Given the description of an element on the screen output the (x, y) to click on. 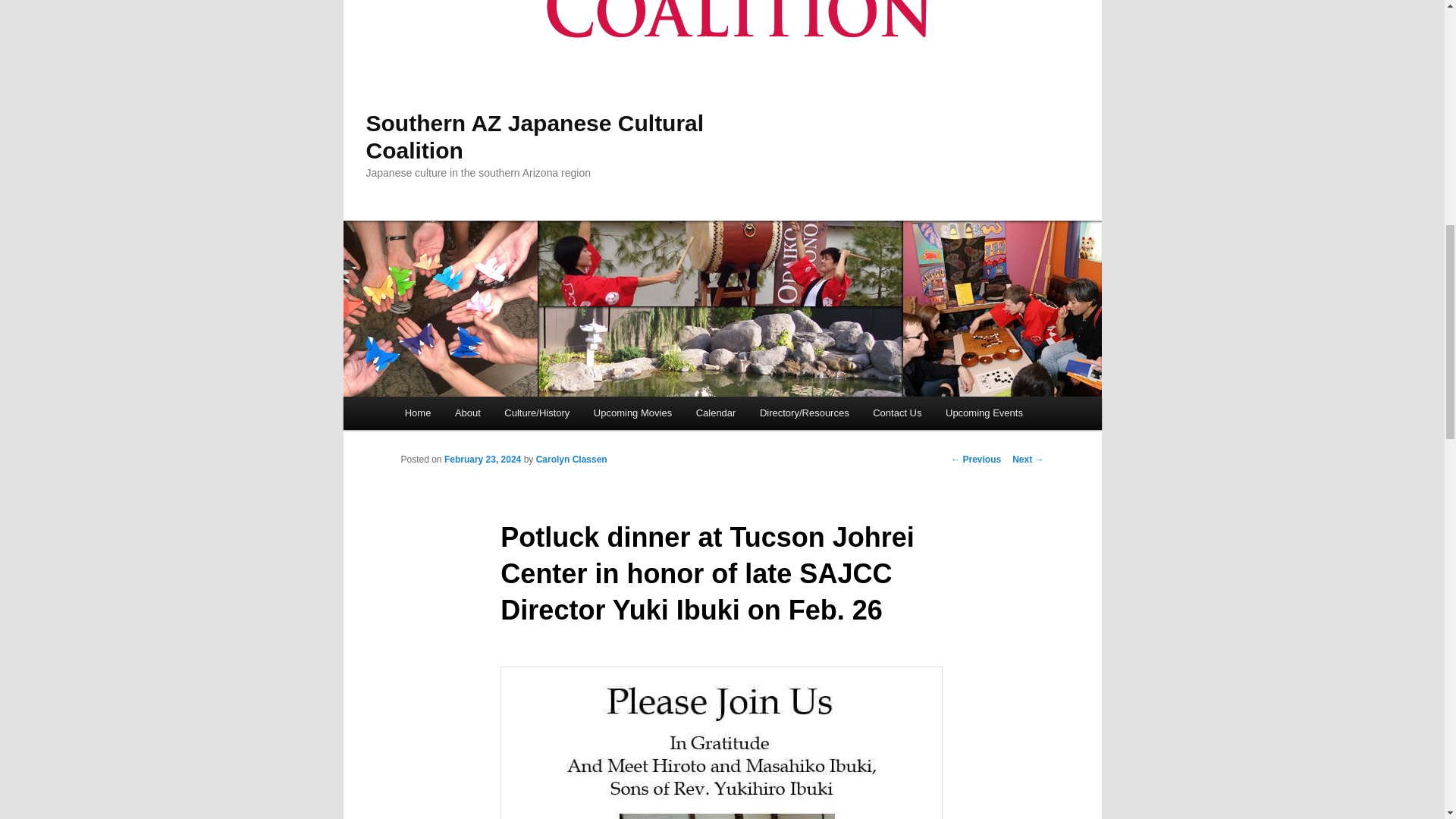
About (467, 412)
Contact Us (896, 412)
View all posts by Carolyn Classen (571, 459)
8:50 am (482, 459)
Upcoming Events (983, 412)
February 23, 2024 (482, 459)
Home (417, 412)
Southern AZ Japanese Cultural Coalition (534, 136)
Carolyn Classen (571, 459)
Calendar (716, 412)
Upcoming Movies (632, 412)
